Given the description of an element on the screen output the (x, y) to click on. 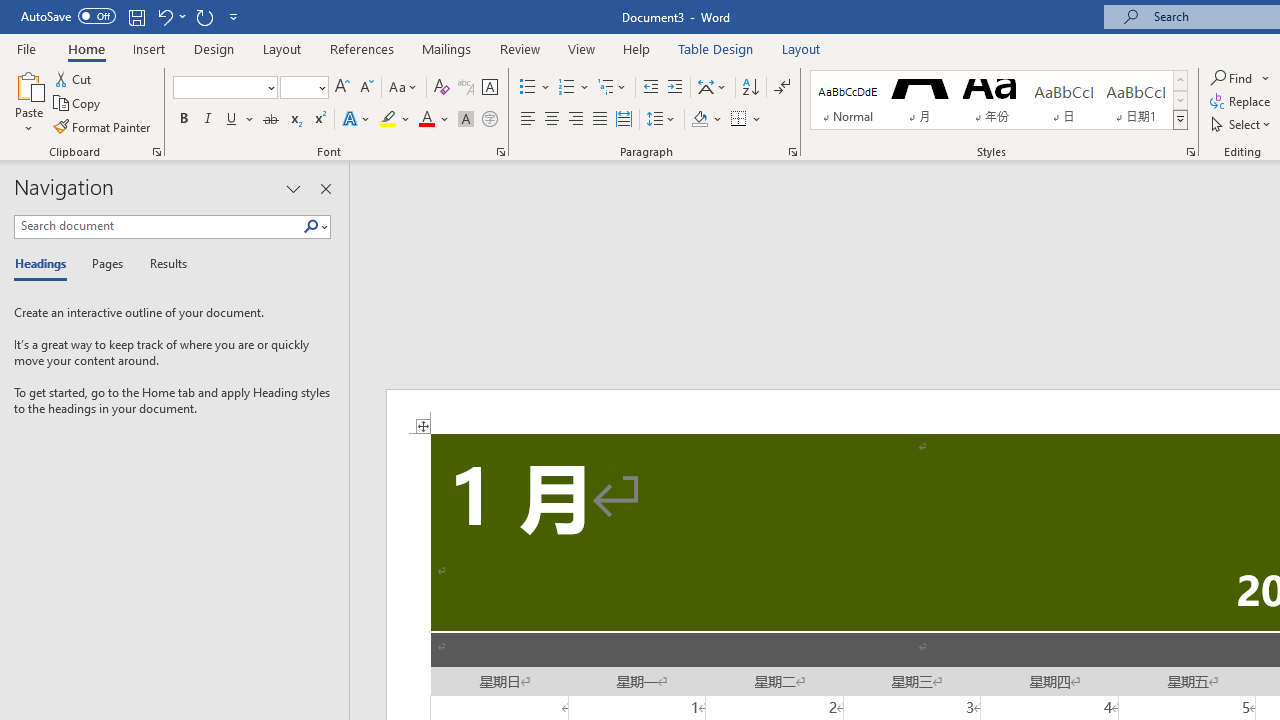
Repeat Grow Font (204, 15)
